Given the description of an element on the screen output the (x, y) to click on. 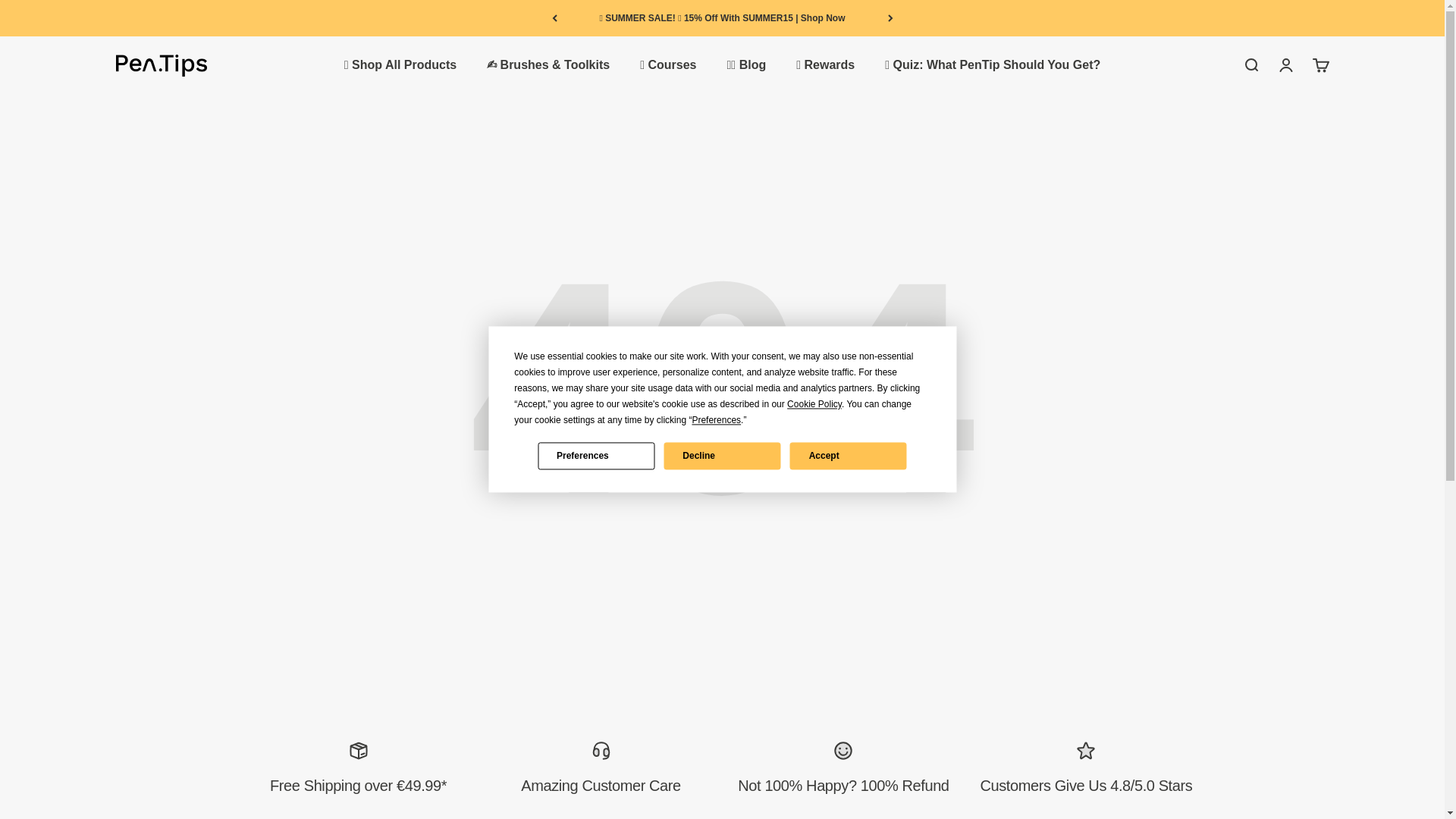
Accept (848, 455)
PenTips (160, 65)
Open cart (1319, 65)
Preferences (595, 455)
Open account page (1285, 65)
Open search (1250, 65)
Decline (721, 455)
Continue shopping (722, 415)
